Given the description of an element on the screen output the (x, y) to click on. 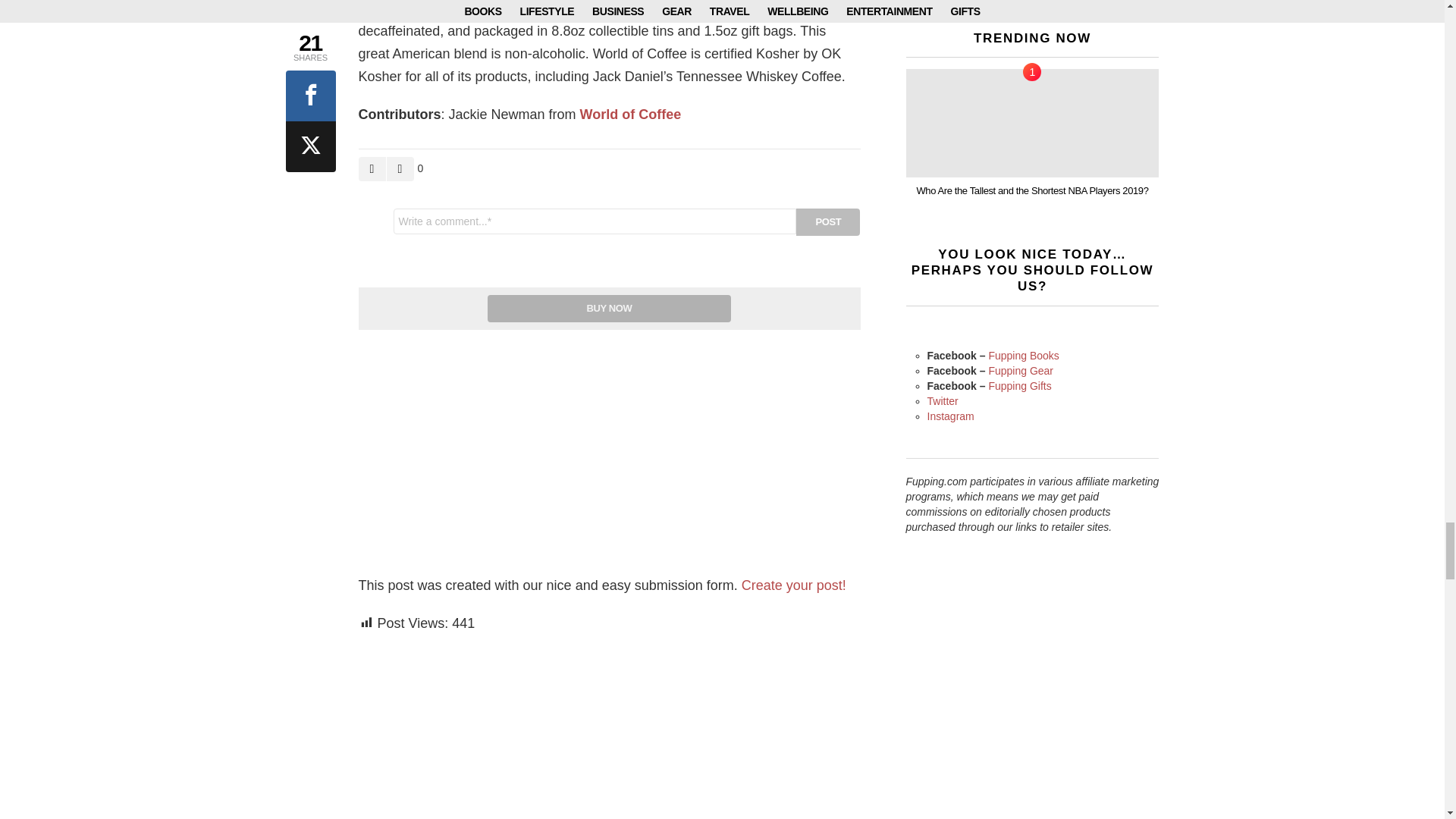
Post (828, 221)
